Given the description of an element on the screen output the (x, y) to click on. 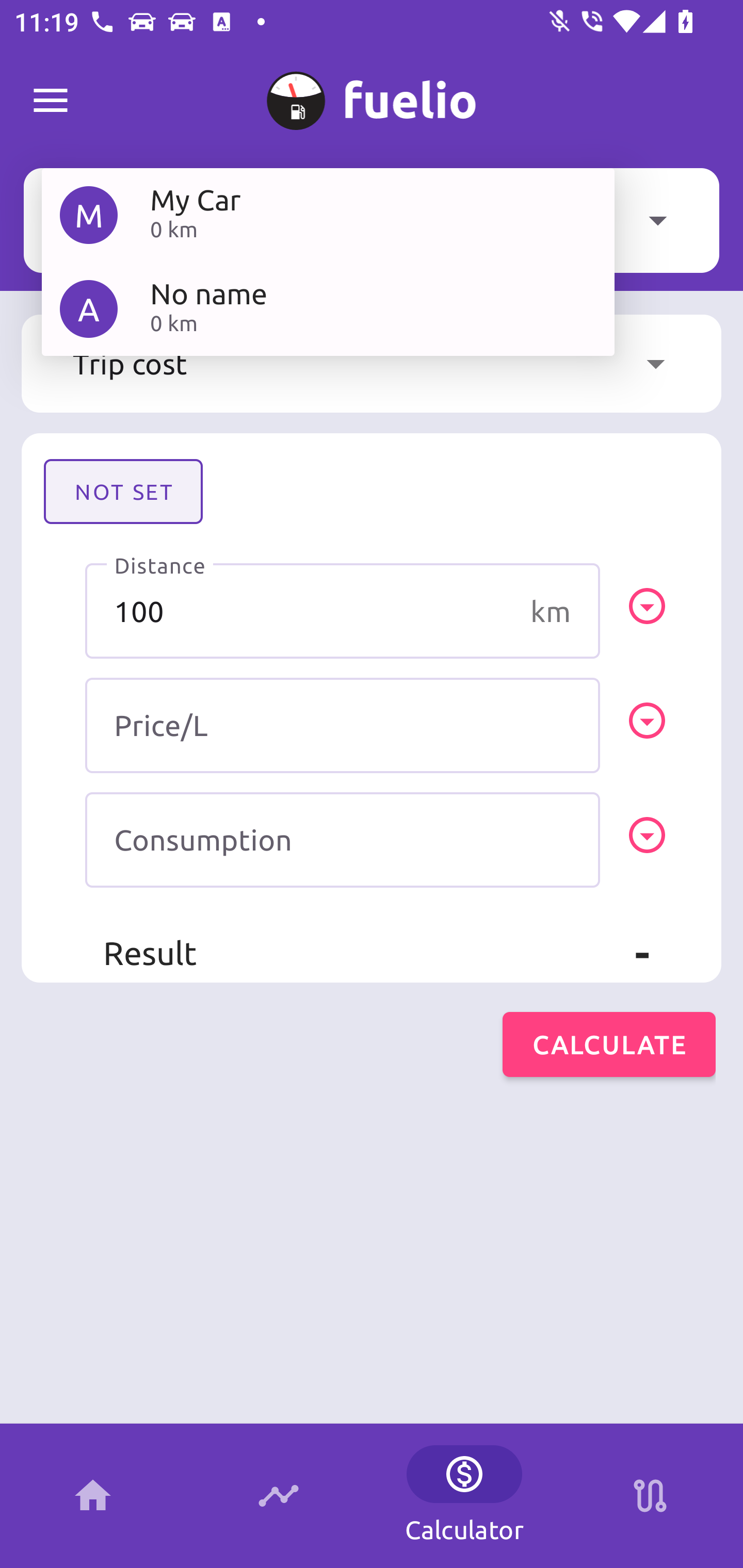
M My Car 0 km (327, 214)
A No name 0 km (327, 308)
